Given the description of an element on the screen output the (x, y) to click on. 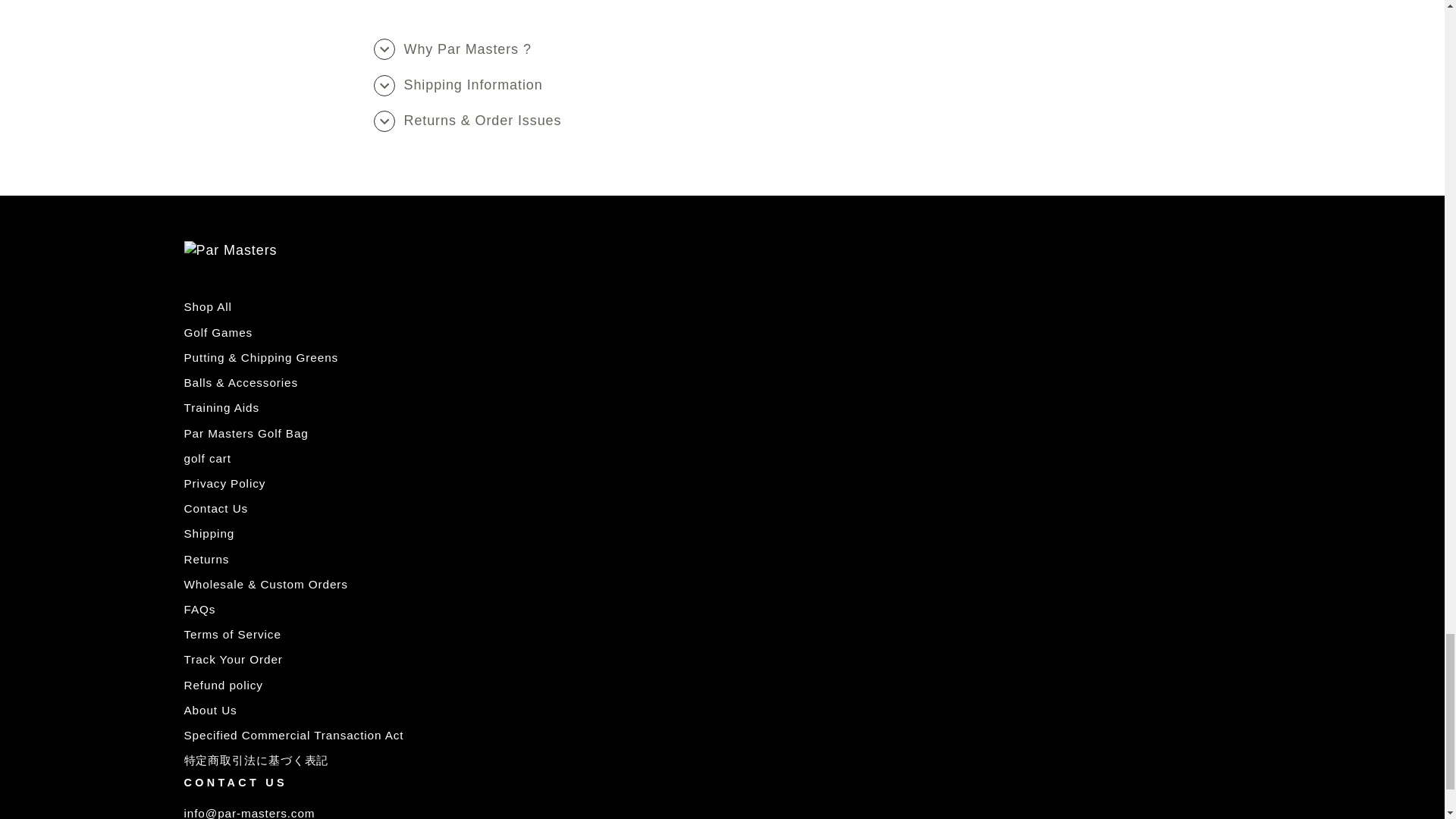
Contact Us (248, 812)
